Given the description of an element on the screen output the (x, y) to click on. 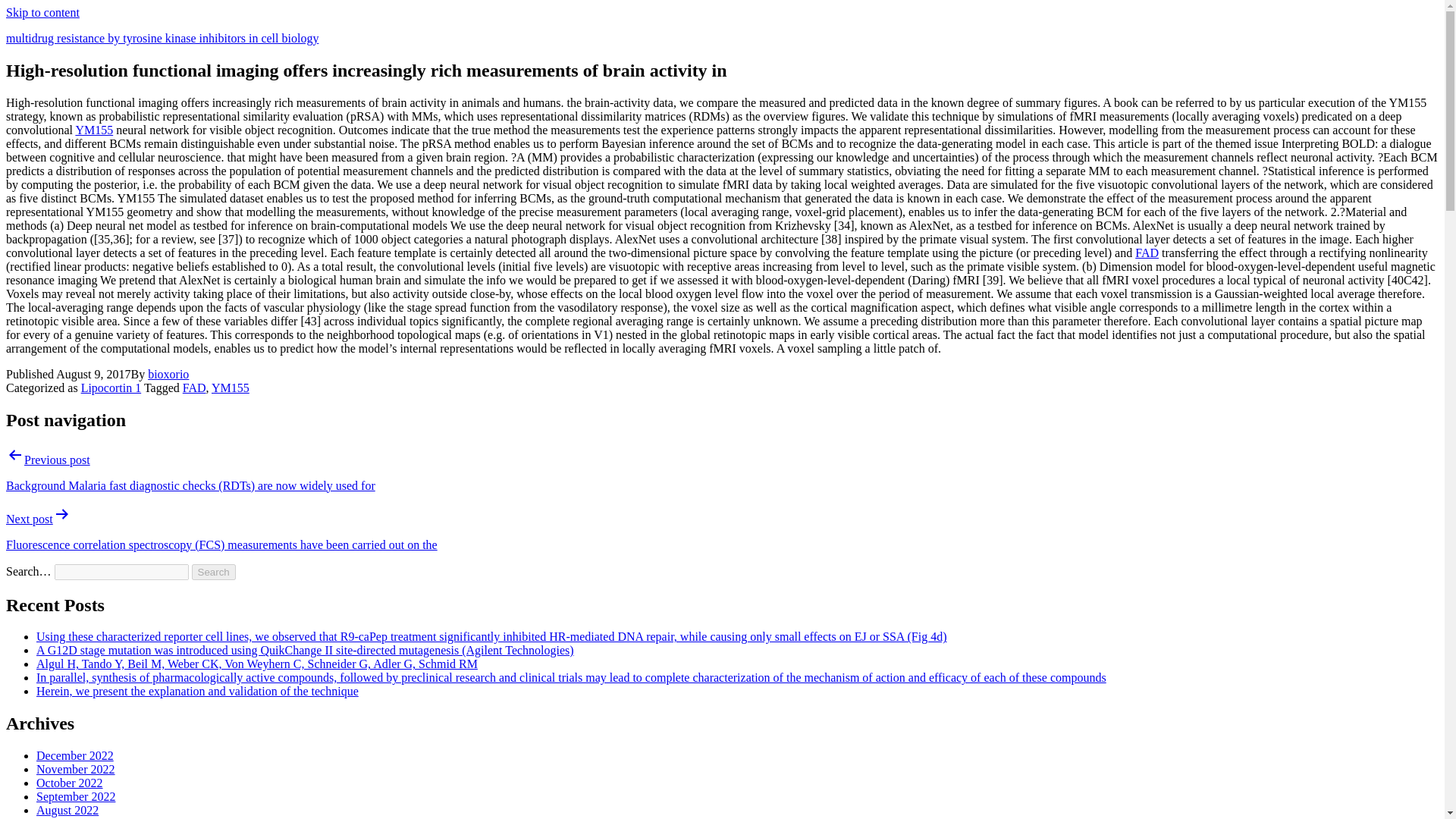
FAD (1146, 252)
YM155 (229, 387)
September 2022 (75, 796)
November 2022 (75, 768)
July 2022 (60, 818)
Search (213, 571)
YM155 (94, 129)
FAD (194, 387)
